Given the description of an element on the screen output the (x, y) to click on. 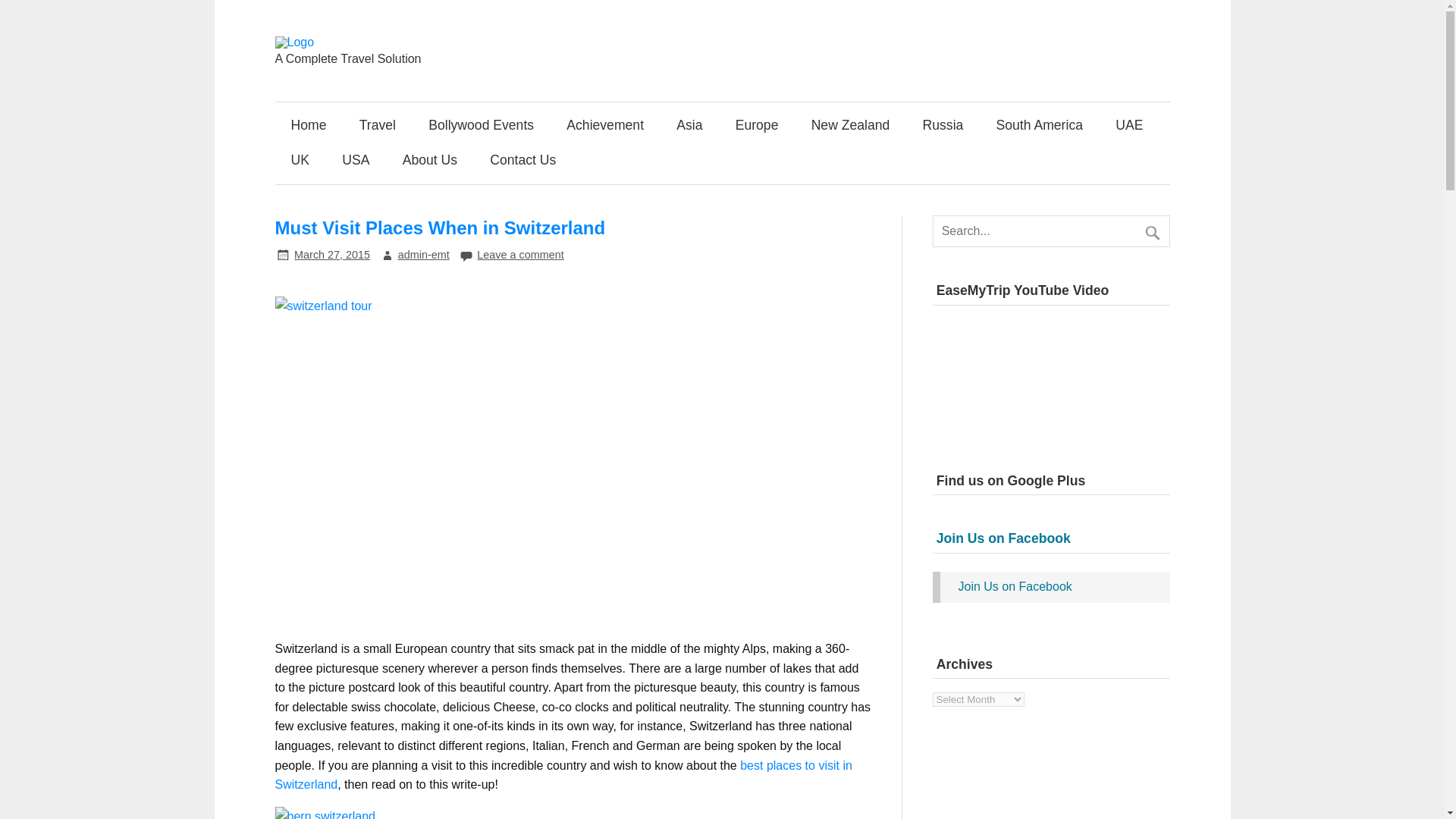
View all posts by admin-emt (423, 254)
Russia (941, 125)
USA (355, 160)
UAE (1128, 125)
UK (299, 160)
admin-emt (423, 254)
Leave a comment (520, 254)
Home (308, 125)
Bollywood Events (481, 125)
New Zealand (849, 125)
